Given the description of an element on the screen output the (x, y) to click on. 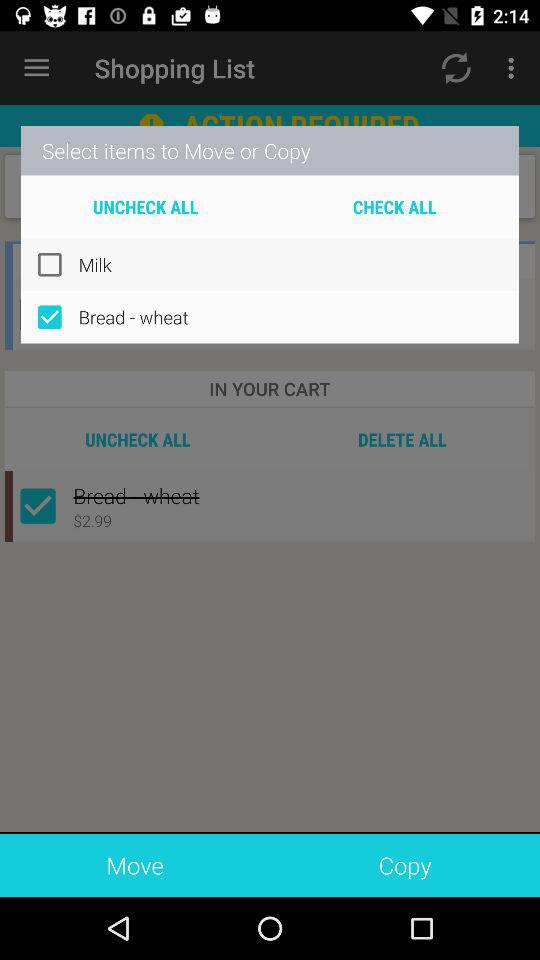
select the icon above the milk icon (394, 206)
